Given the description of an element on the screen output the (x, y) to click on. 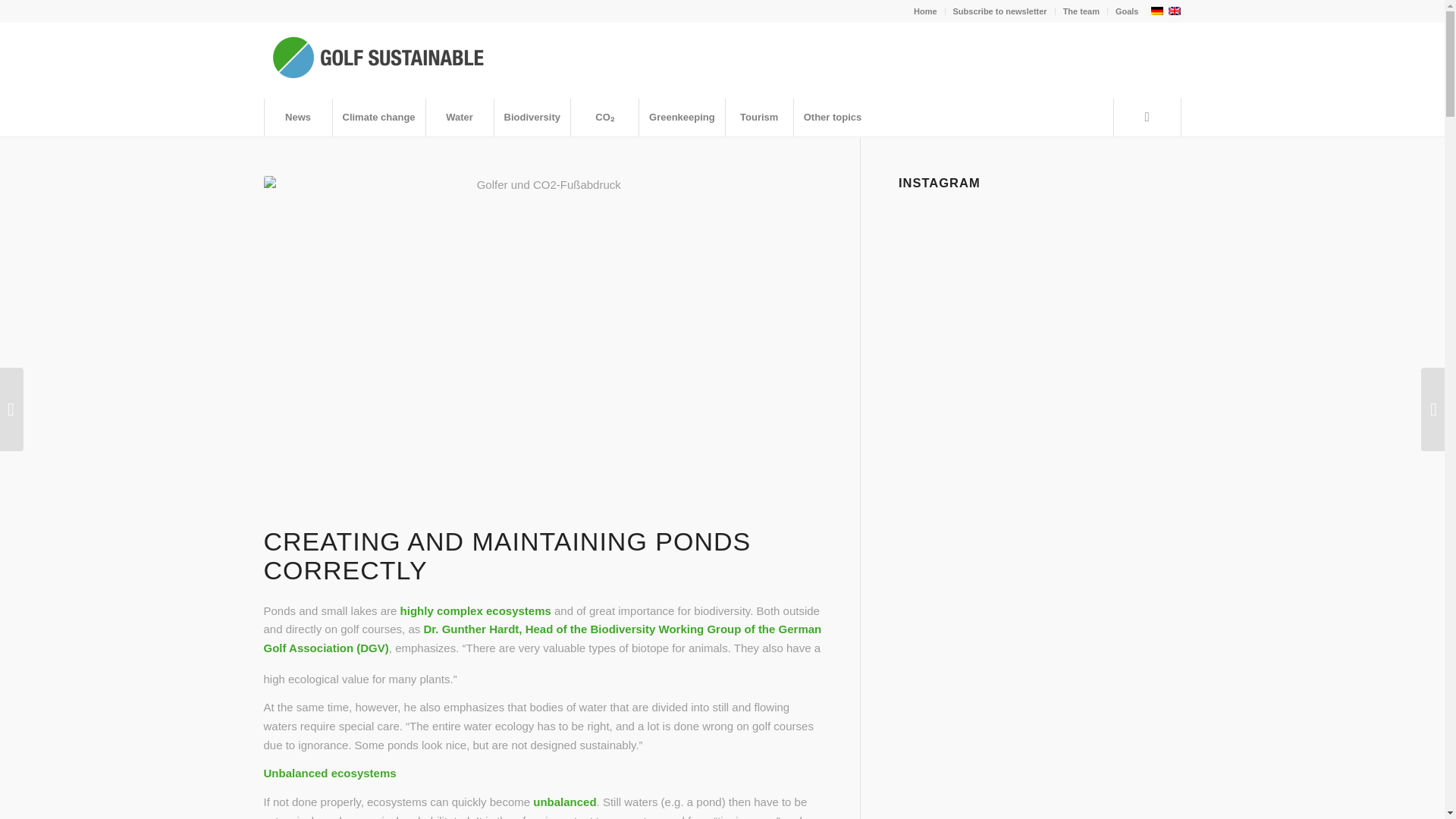
Home (925, 11)
Greenkeeping (682, 117)
Climate change (378, 117)
The team (1080, 11)
Deutsch (1156, 10)
Tourism (759, 117)
Other topics (832, 117)
News (297, 117)
Water (459, 117)
Biodiversity (531, 117)
Subscribe to newsletter (999, 11)
English (1173, 10)
Goals (1126, 11)
